Given the description of an element on the screen output the (x, y) to click on. 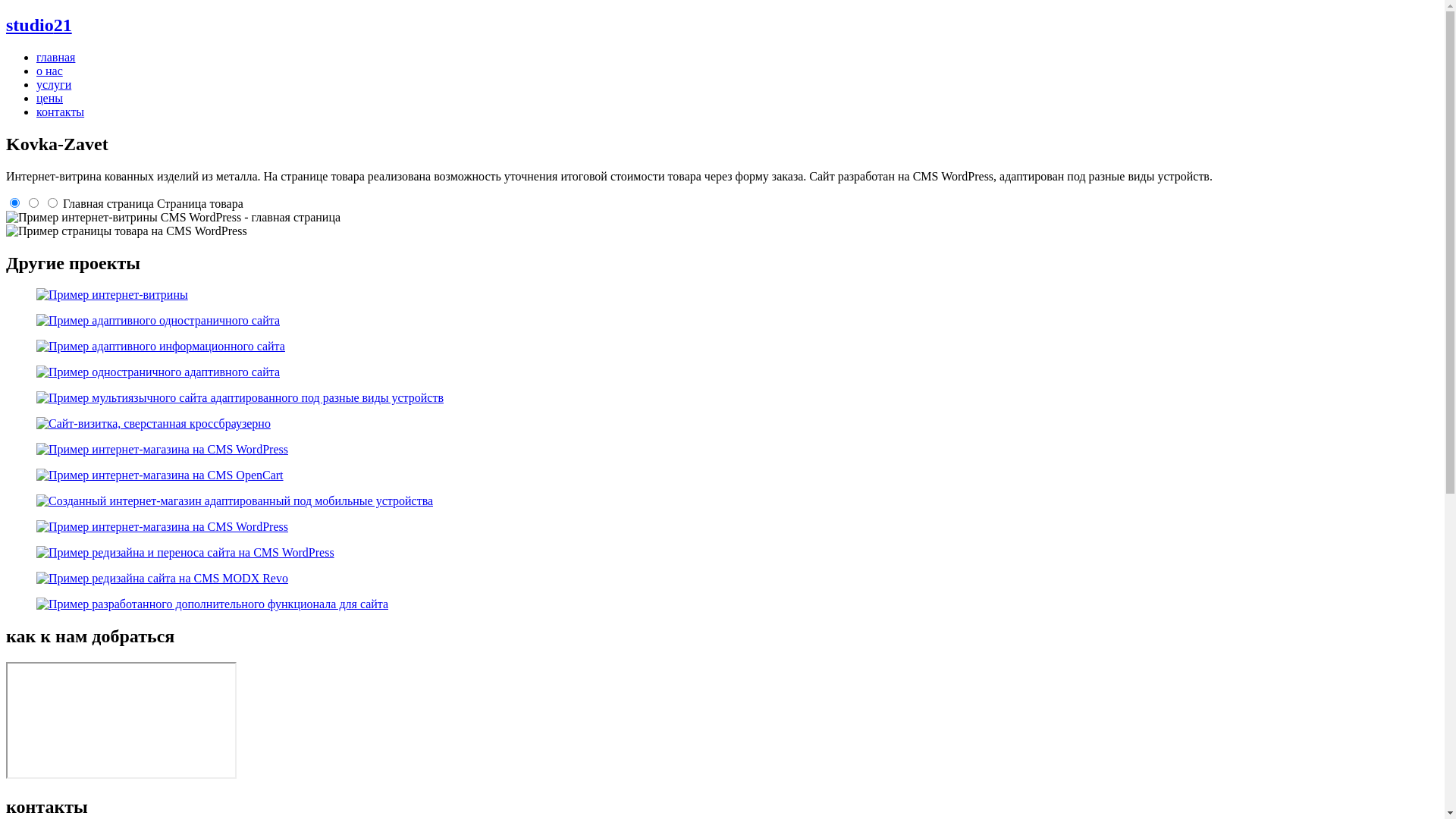
studio21 Element type: text (722, 25)
